Given the description of an element on the screen output the (x, y) to click on. 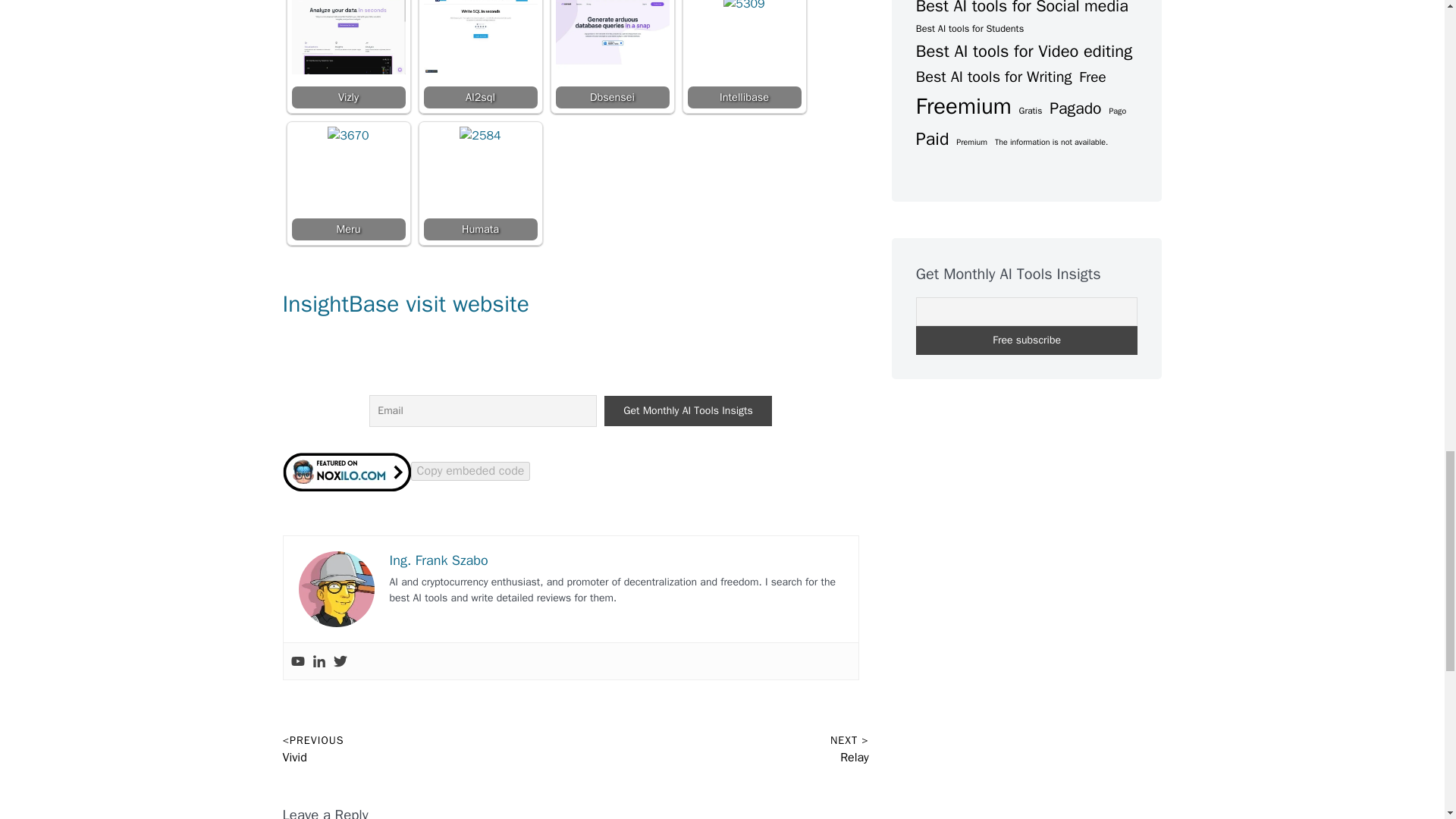
Humata (480, 183)
Dbsensei (611, 54)
Twitter (340, 661)
Get Monthly AI Tools Insigts (687, 410)
Vizly (347, 36)
Humata (480, 146)
AI2sql (480, 36)
Copy embeded code (470, 470)
Intellibase (743, 54)
Linkedin (319, 661)
